Given the description of an element on the screen output the (x, y) to click on. 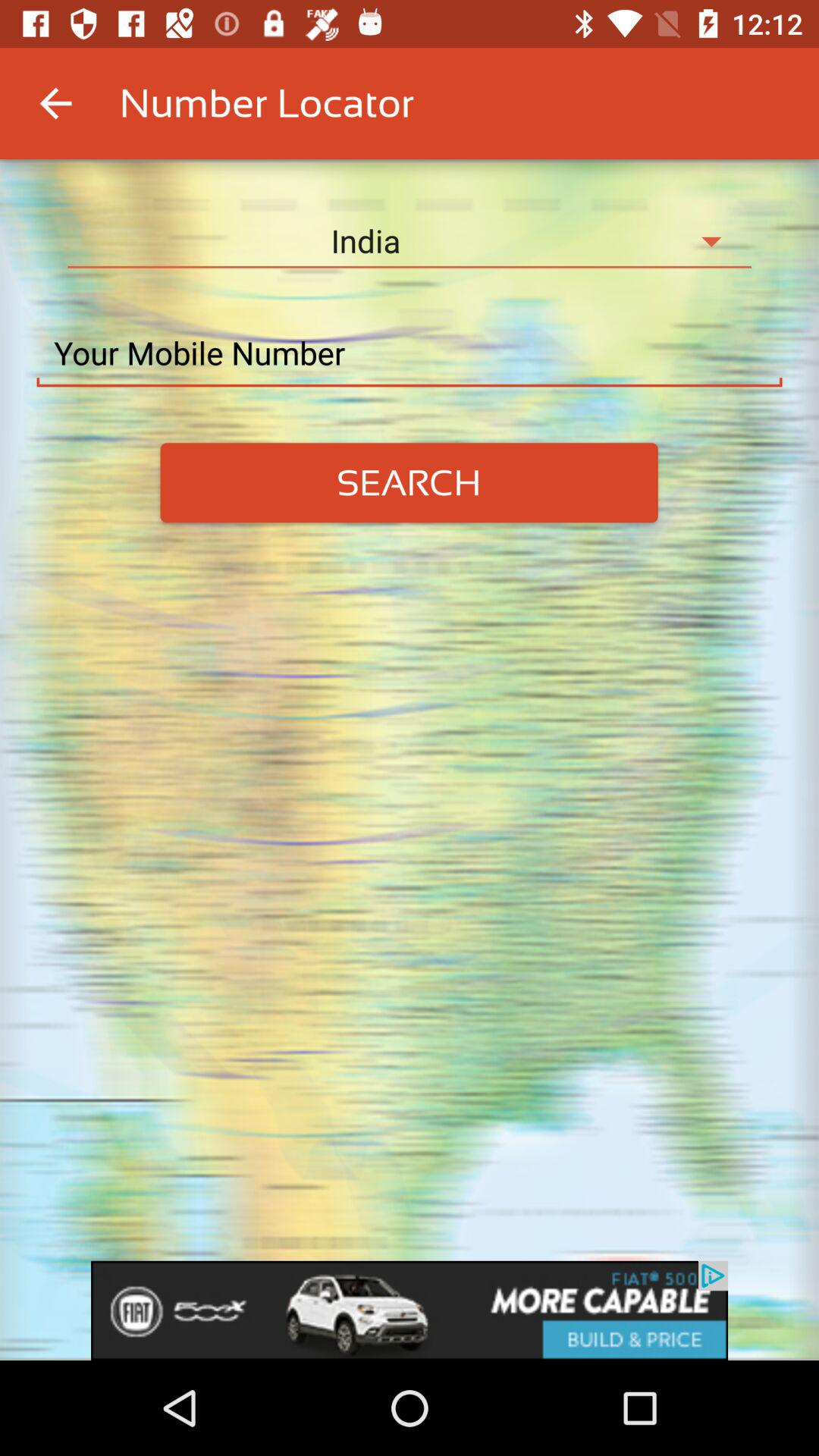
type mobile number (409, 353)
